Given the description of an element on the screen output the (x, y) to click on. 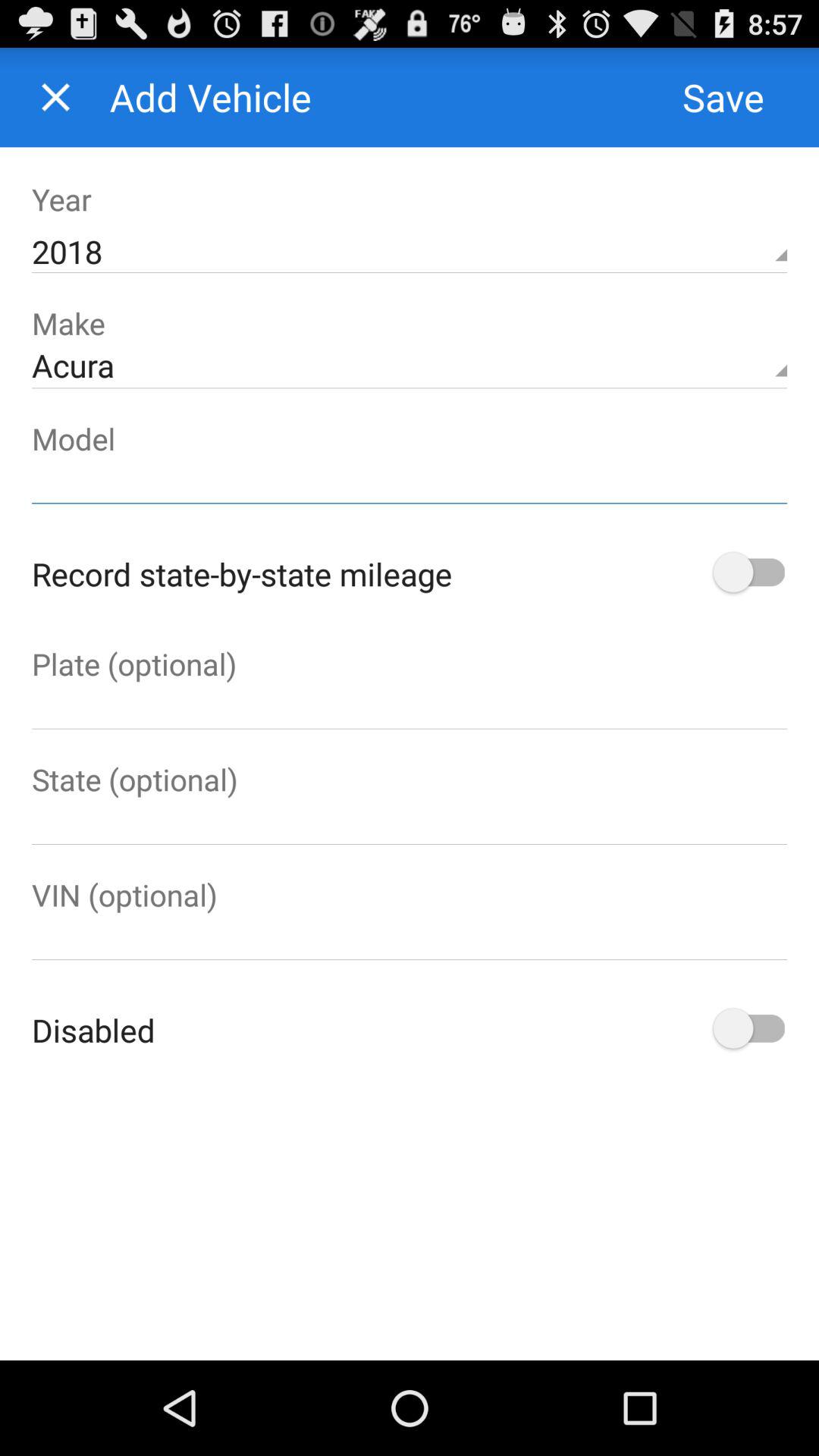
toggle disabled option (747, 1029)
